Given the description of an element on the screen output the (x, y) to click on. 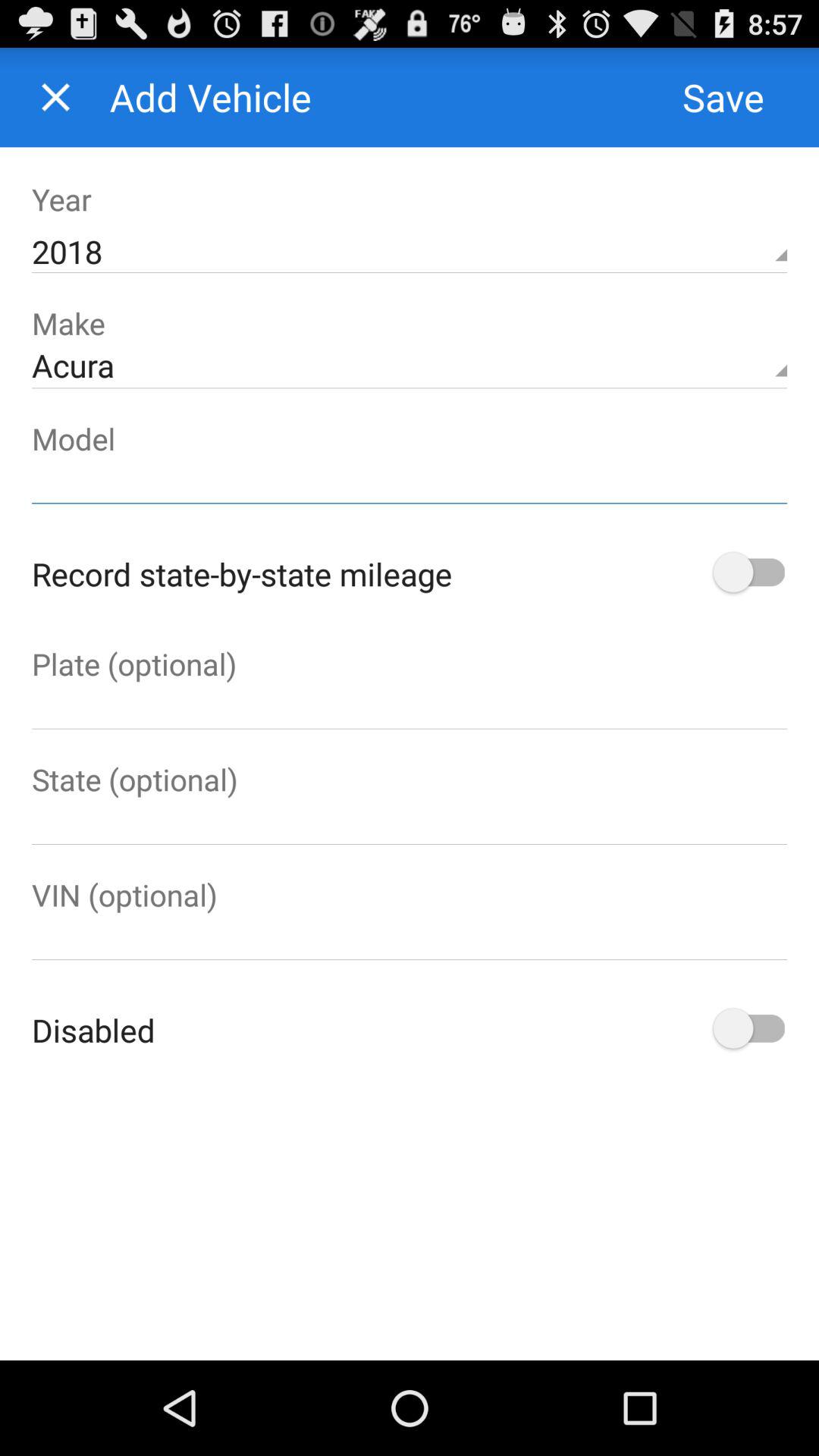
toggle disabled option (747, 1029)
